Given the description of an element on the screen output the (x, y) to click on. 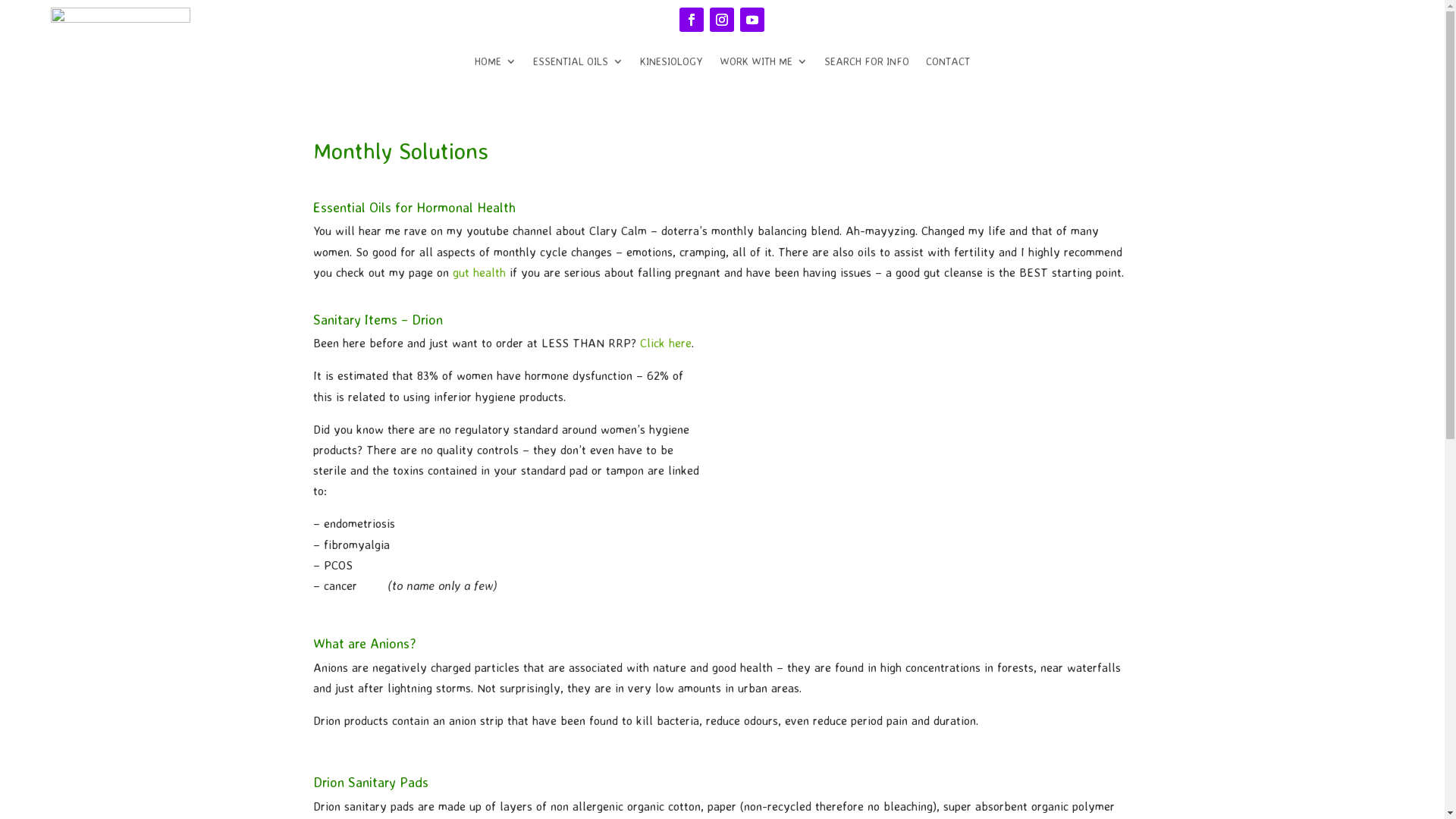
SEARCH FOR INFO Element type: text (866, 64)
ESSENTIAL OILS Element type: text (578, 64)
Follow on Facebook Element type: hover (691, 19)
gut health Element type: text (478, 271)
Follow on Instagram Element type: hover (721, 19)
Click here Element type: text (665, 342)
HOME Element type: text (495, 64)
CONTACT Element type: text (947, 64)
KINESIOLOGY Element type: text (671, 64)
Follow on Youtube Element type: hover (752, 19)
WORK WITH ME Element type: text (763, 64)
